Given the description of an element on the screen output the (x, y) to click on. 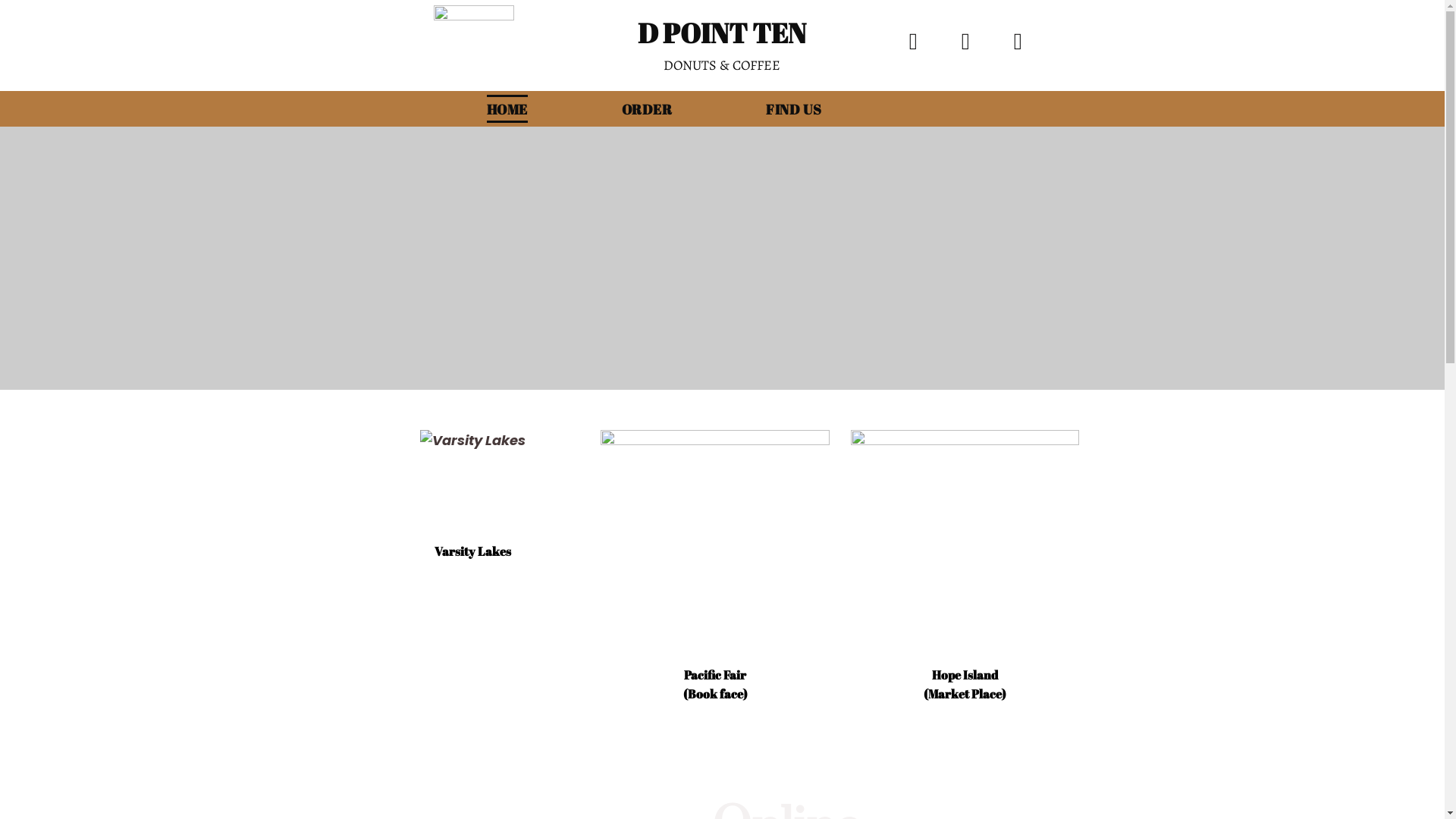
ORDER Element type: text (599, 108)
FIND US Element type: text (746, 108)
HOME Element type: text (459, 108)
